Given the description of an element on the screen output the (x, y) to click on. 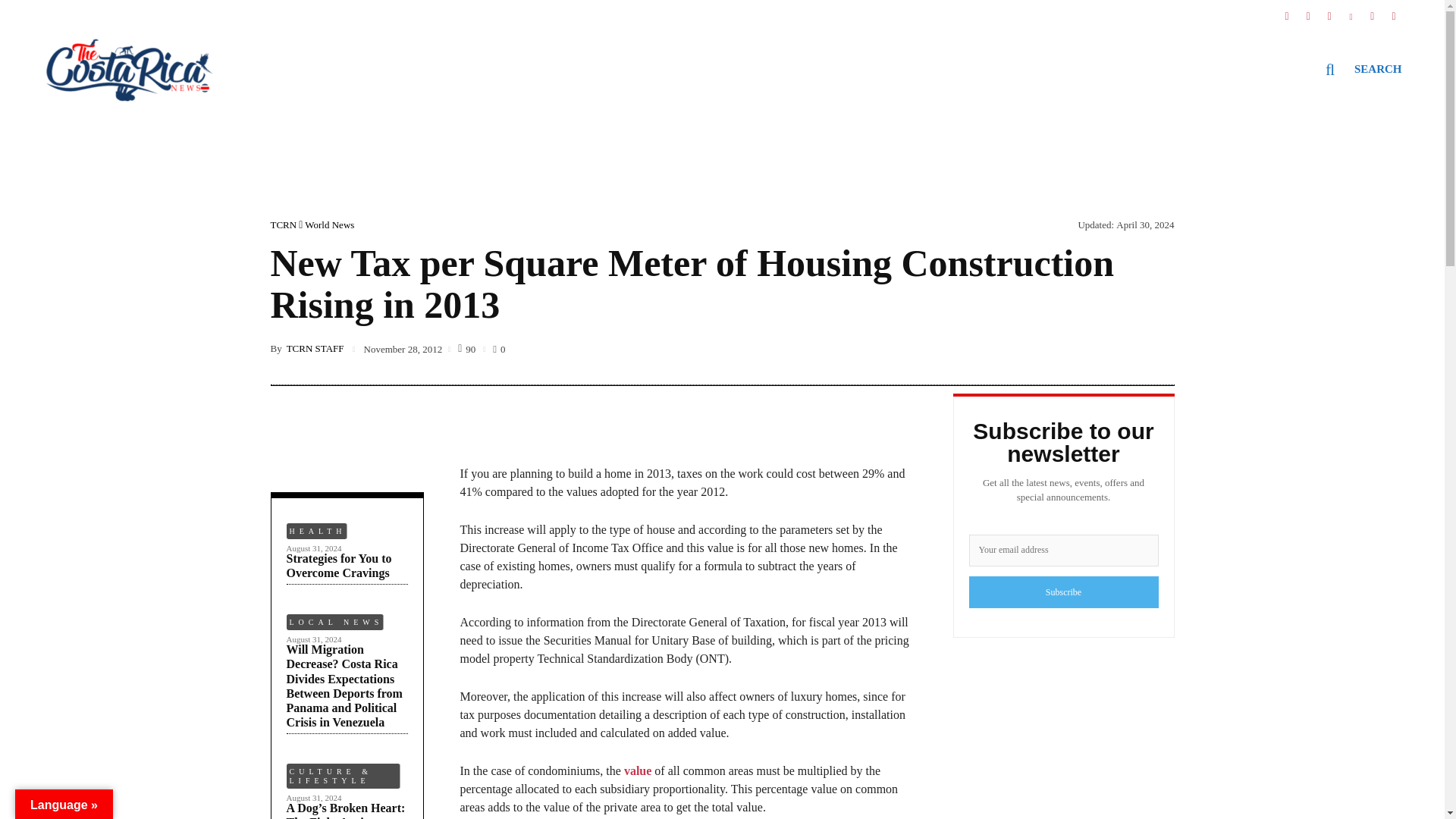
Twitter (1329, 11)
Instagram (1307, 11)
Facebook (1286, 11)
Paypal (1393, 11)
LinkedIn (1350, 11)
YouTube (1371, 11)
